Given the description of an element on the screen output the (x, y) to click on. 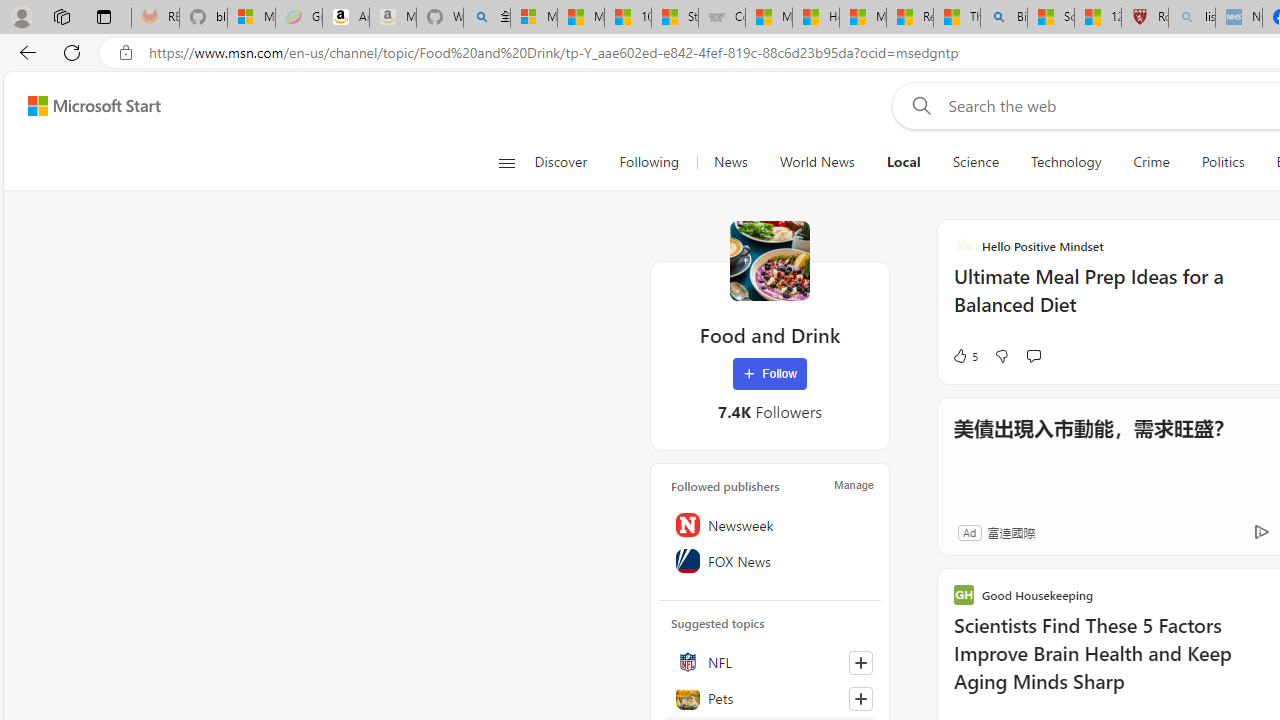
Ad Choice (1261, 532)
12 Popular Science Lies that Must be Corrected (1098, 17)
Class: button-glyph (505, 162)
Dislike (1001, 355)
Food and Drink (769, 260)
Local (903, 162)
